Given the description of an element on the screen output the (x, y) to click on. 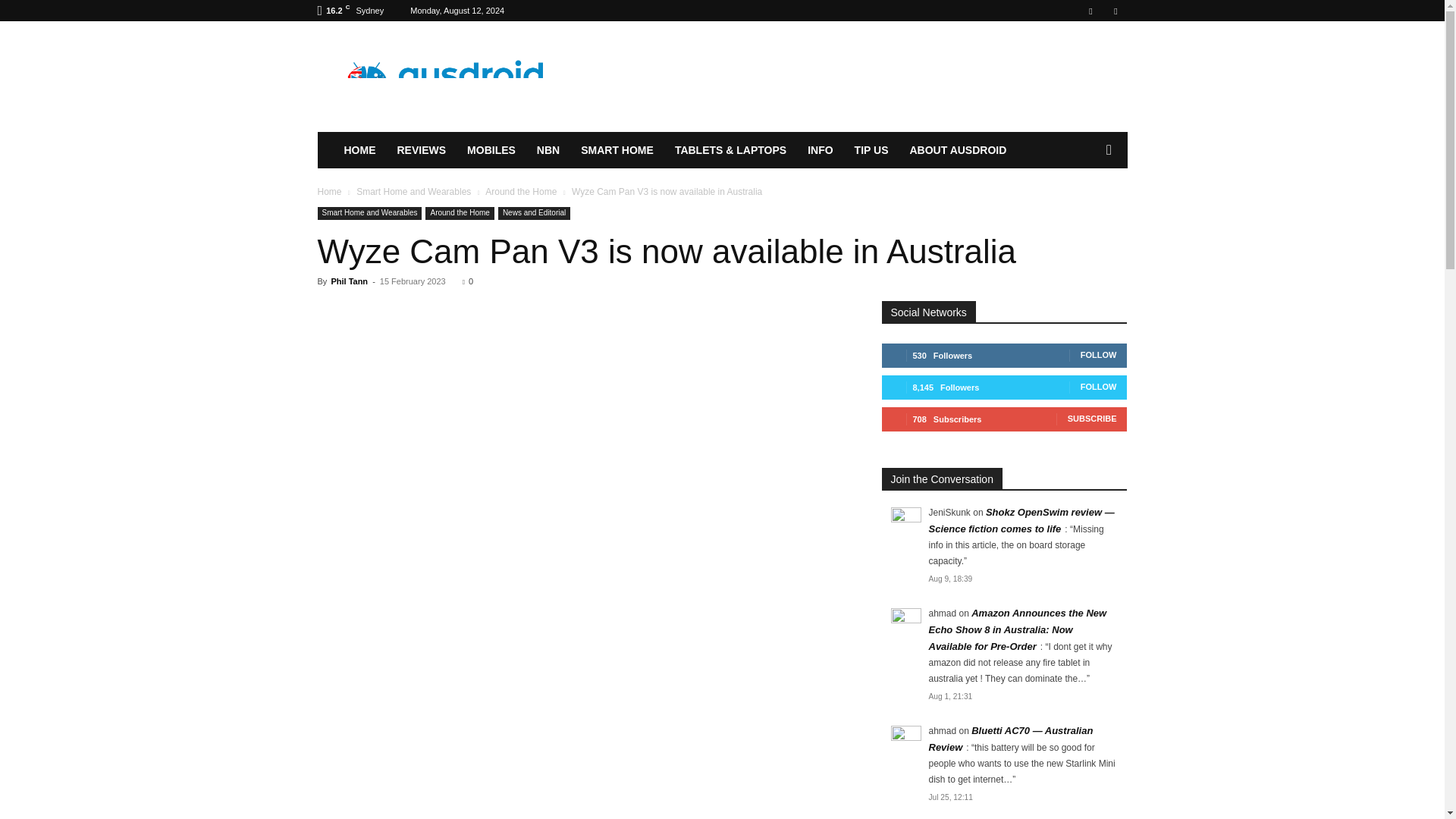
INFO (819, 149)
Twitter (1114, 10)
Ausdroid Logo (445, 76)
View all posts in Smart Home and Wearables (413, 191)
HOME (360, 149)
NBN (547, 149)
MOBILES (491, 149)
Telegram (1090, 10)
REVIEWS (422, 149)
